Given the description of an element on the screen output the (x, y) to click on. 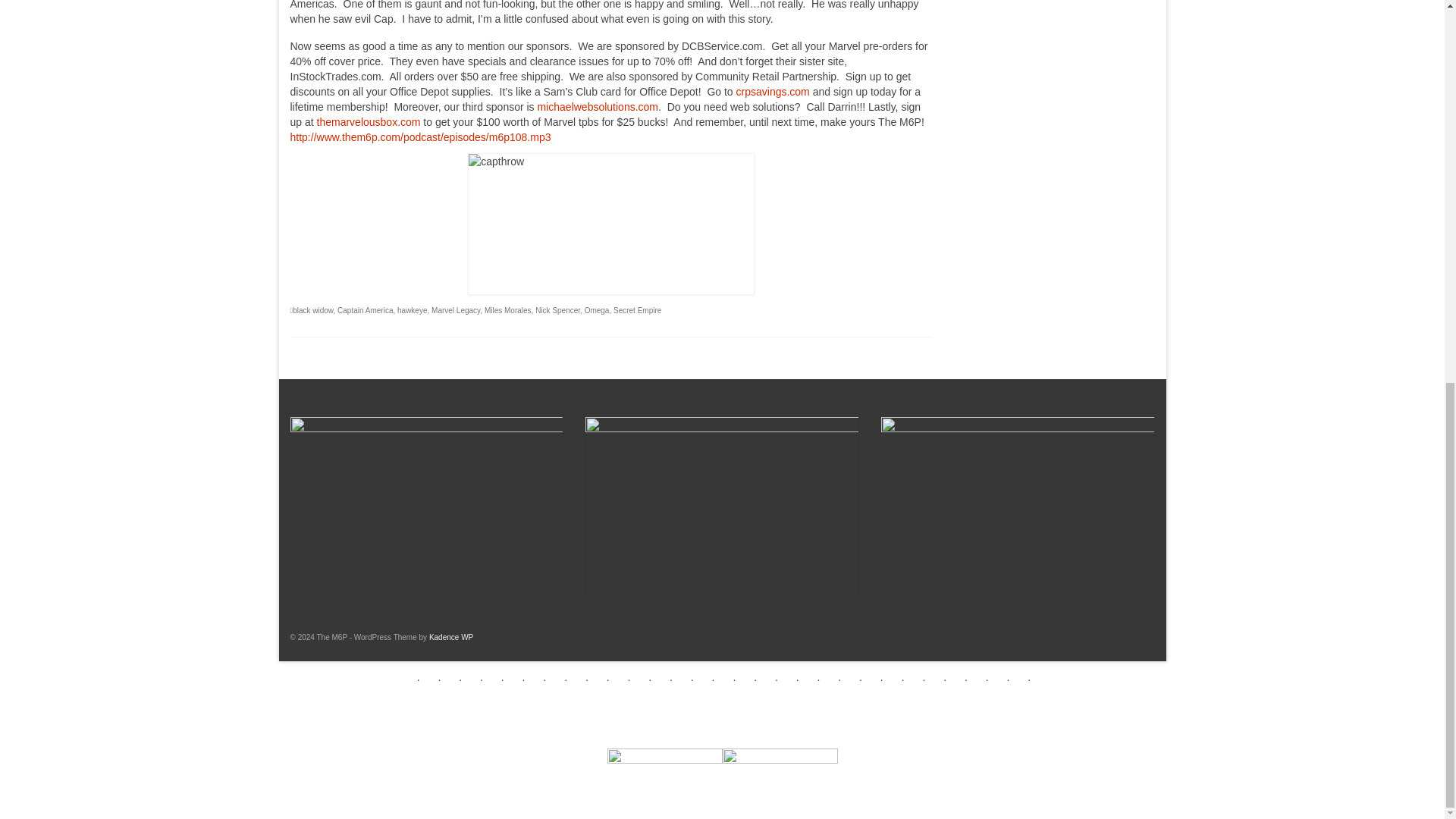
Secret Empire (636, 310)
Nick Spencer (557, 310)
michaelwebsolutions.com (598, 106)
Omega (597, 310)
hawkeye (411, 310)
crpsavings.com (772, 91)
Miles Morales (507, 310)
themarvelousbox.com (368, 121)
black widow (312, 310)
Marvel Legacy (455, 310)
